Given the description of an element on the screen output the (x, y) to click on. 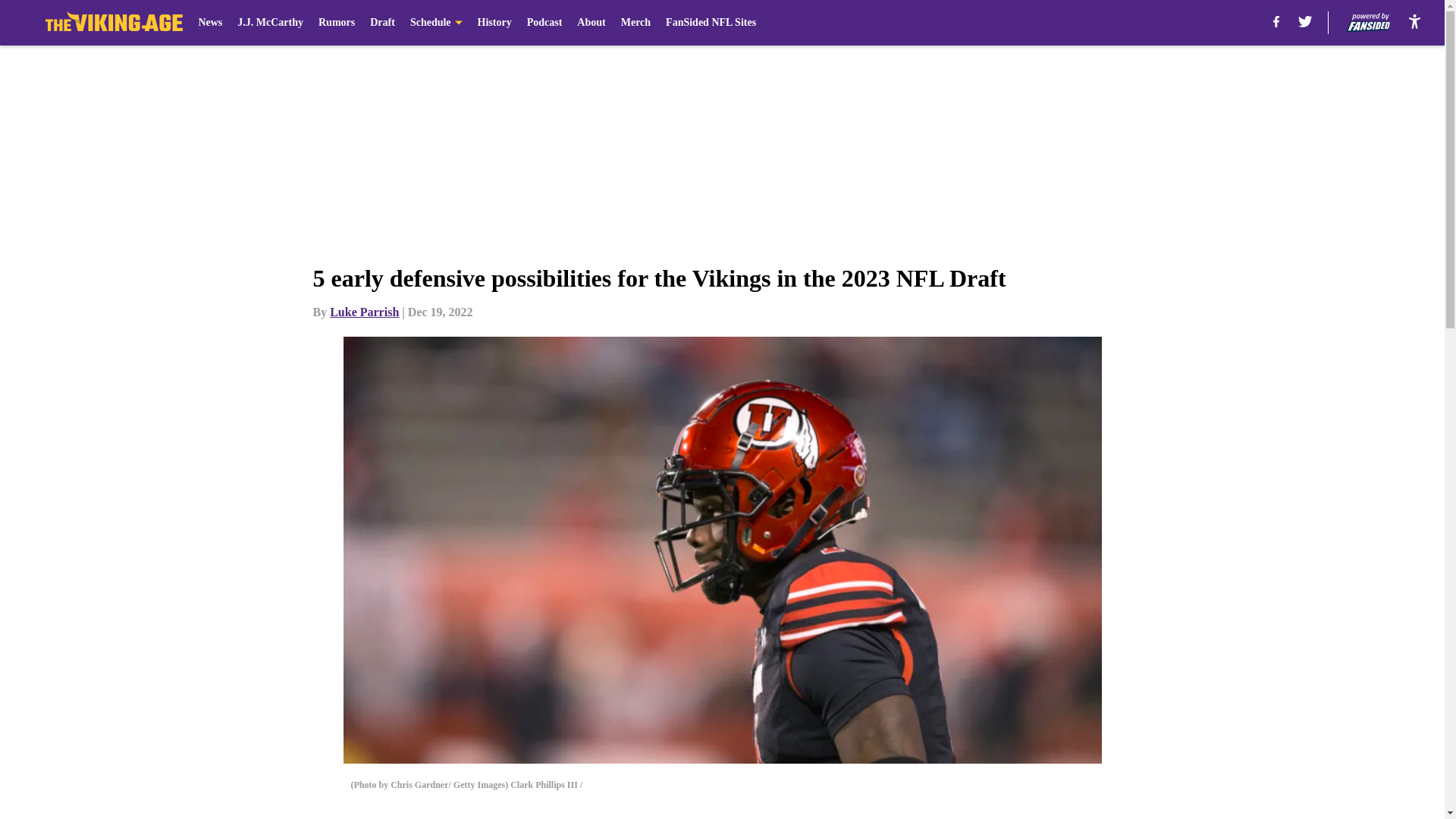
Draft (381, 22)
About (590, 22)
Rumors (336, 22)
J.J. McCarthy (269, 22)
Luke Parrish (364, 311)
News (210, 22)
FanSided NFL Sites (710, 22)
Podcast (544, 22)
History (494, 22)
Merch (635, 22)
